Given the description of an element on the screen output the (x, y) to click on. 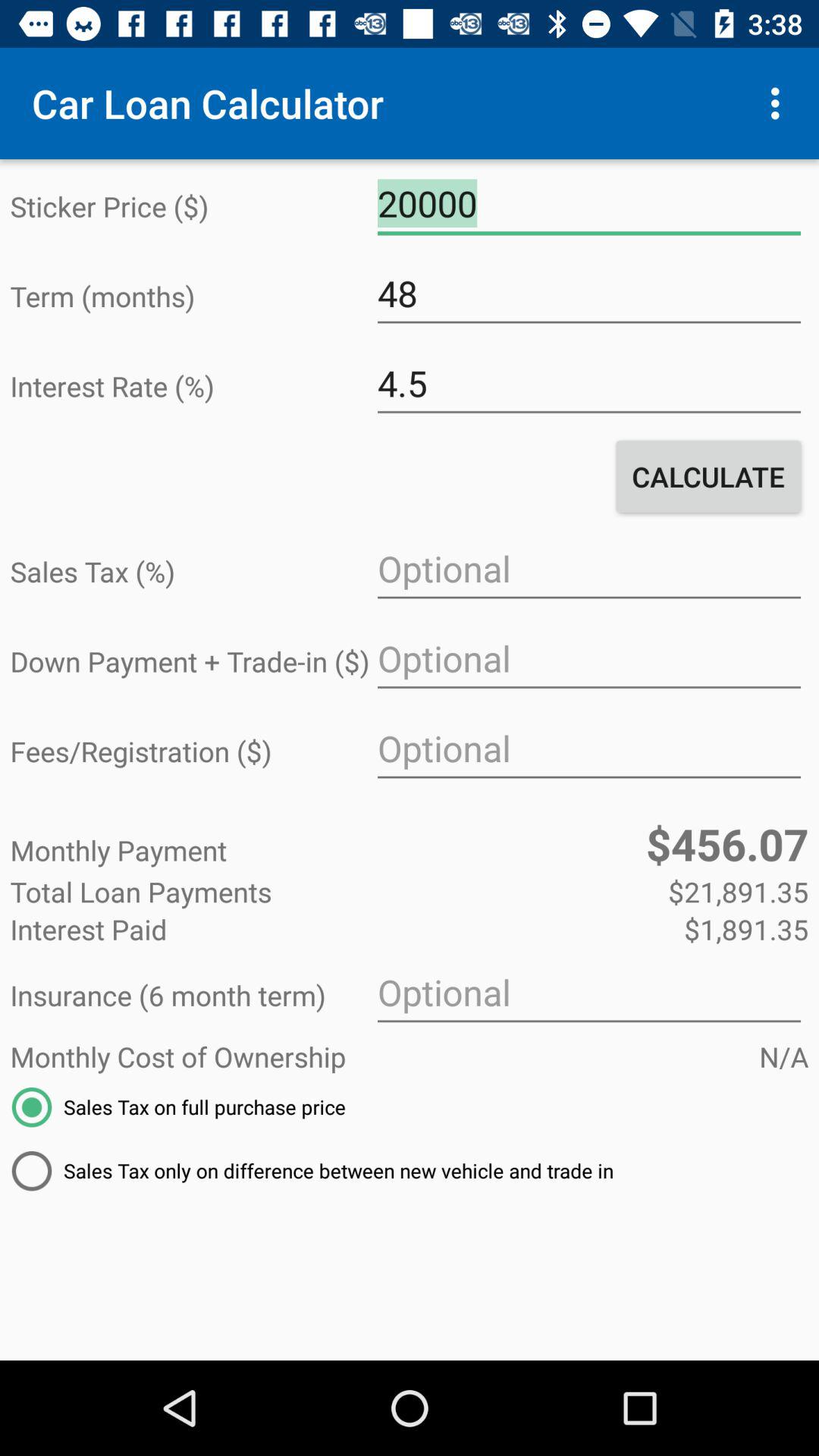
add down payment amount (588, 659)
